Given the description of an element on the screen output the (x, y) to click on. 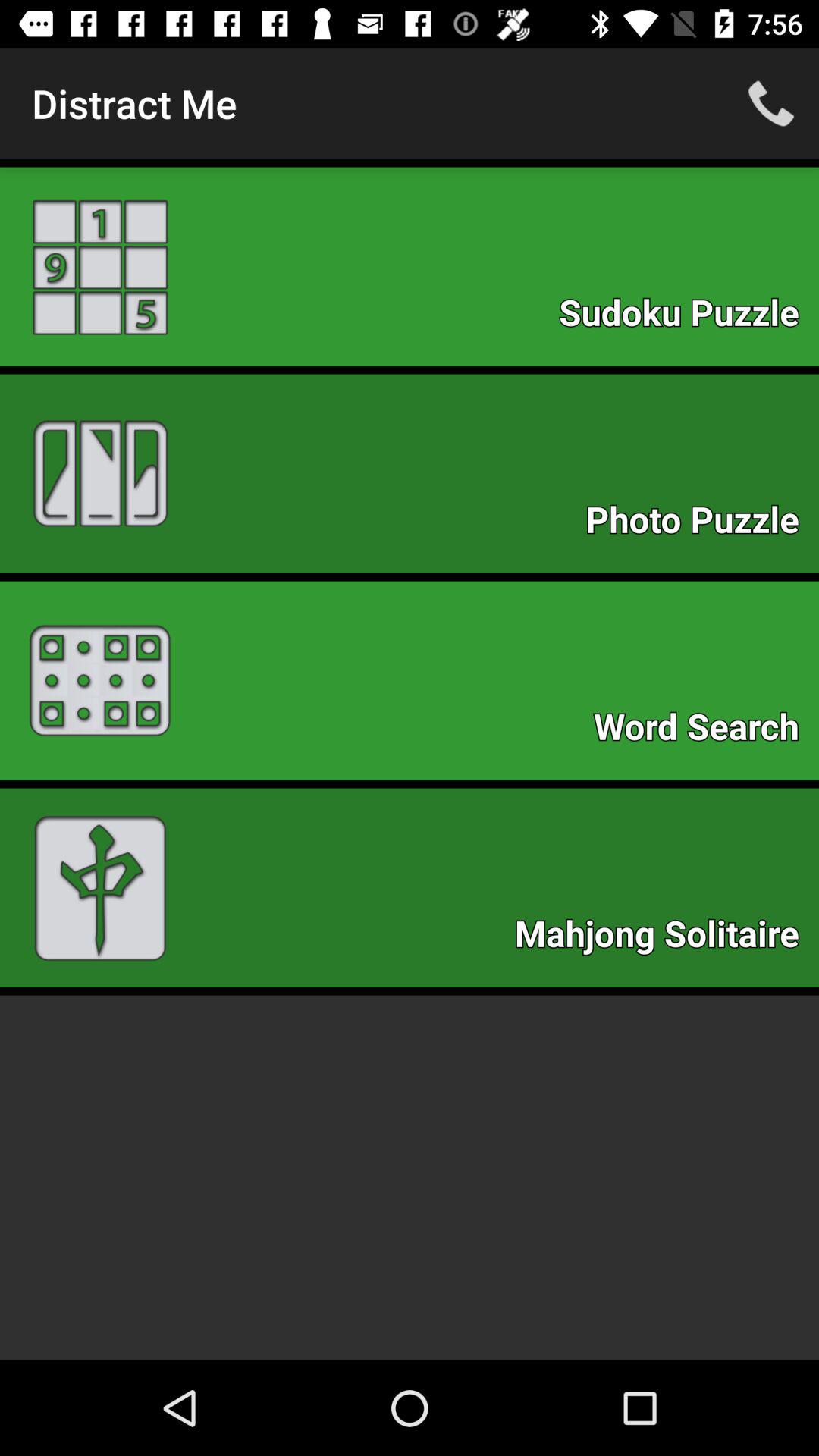
select the item below sudoku puzzle icon (700, 523)
